Given the description of an element on the screen output the (x, y) to click on. 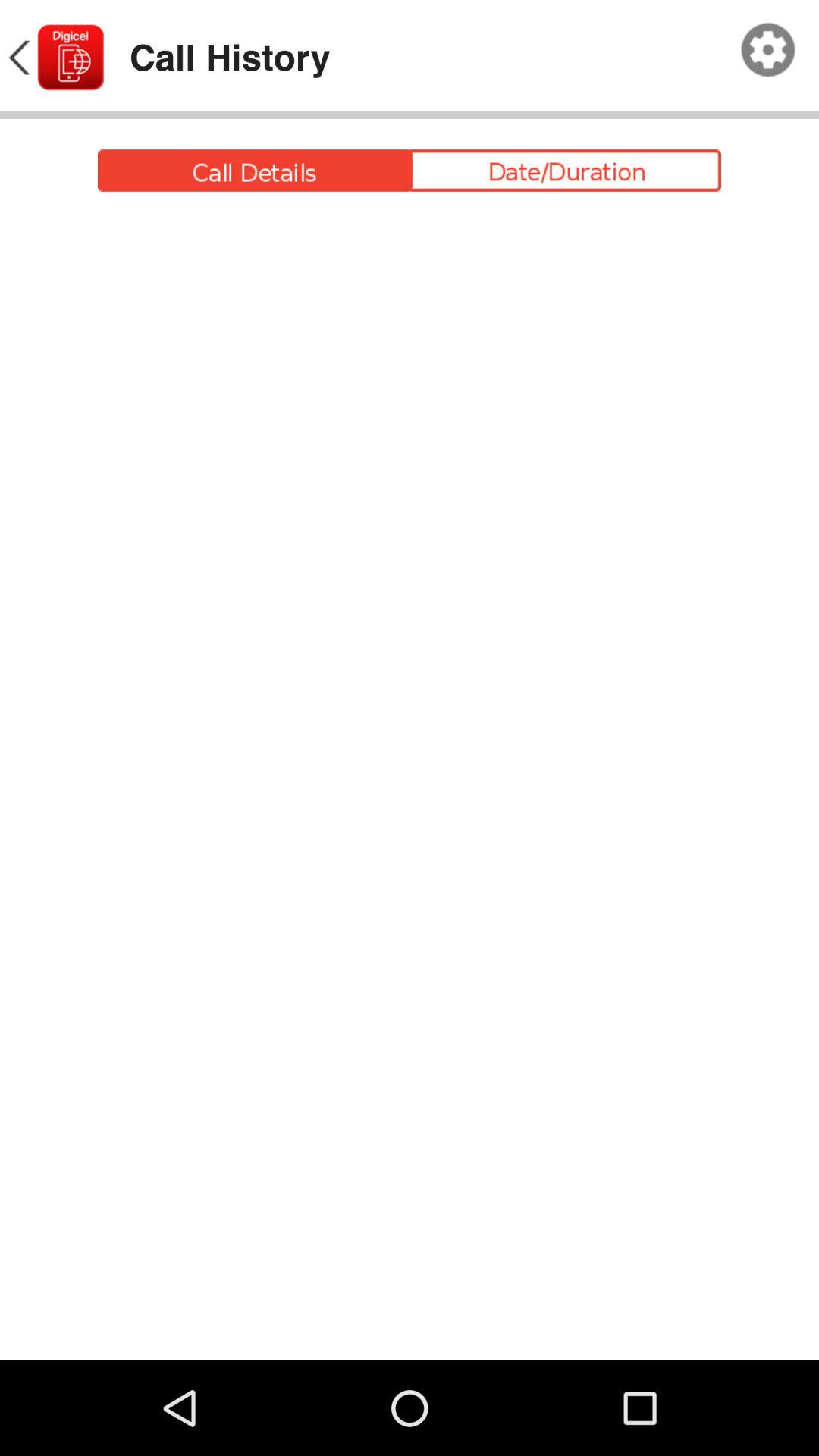
click icon to the left of call history (54, 57)
